Given the description of an element on the screen output the (x, y) to click on. 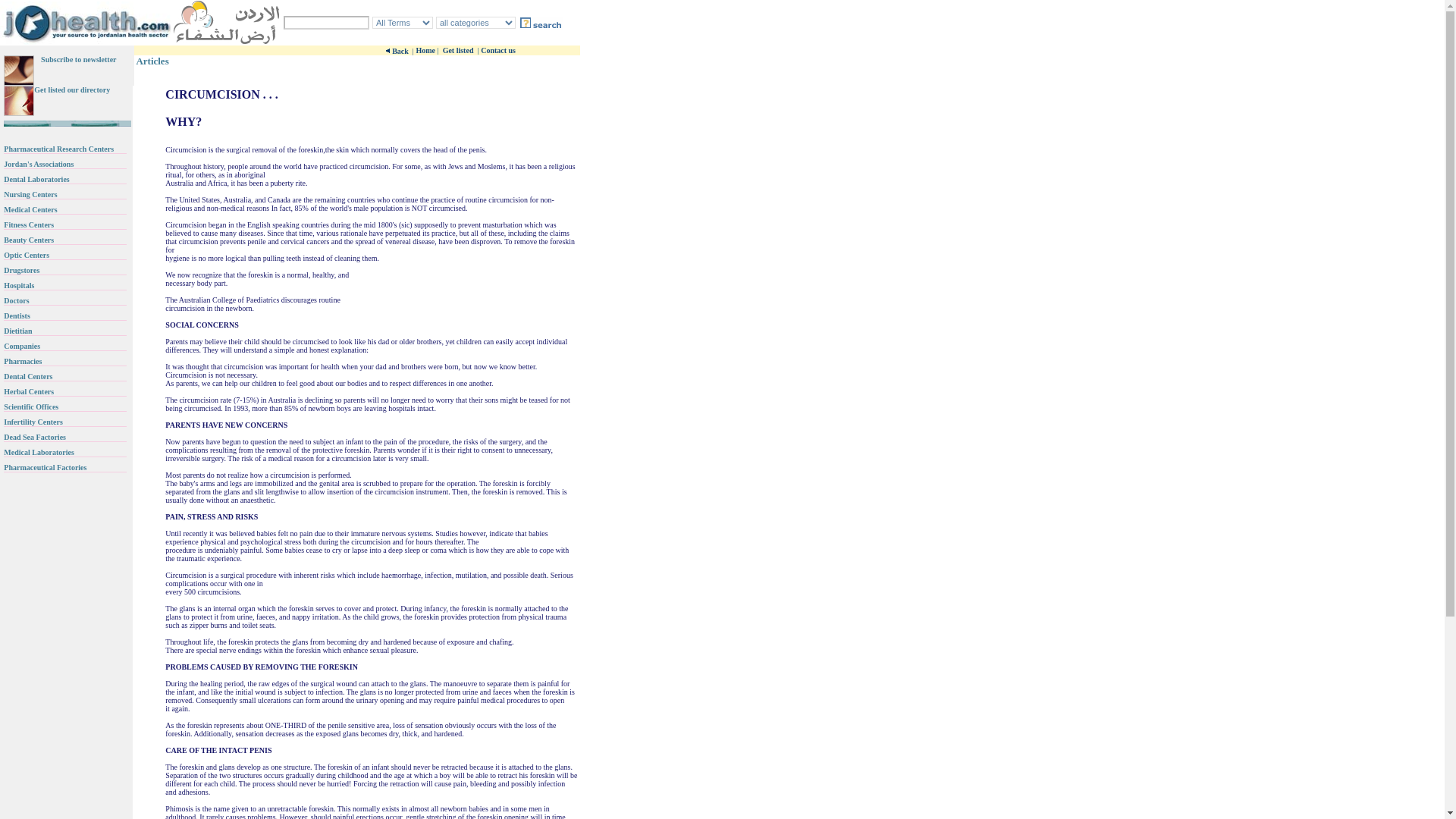
Scientific Offices (31, 404)
Herbal Centers (28, 390)
Dental Laboratories (36, 177)
Subscribe to newsletter (78, 57)
Companies (22, 344)
Drugstores (21, 268)
Pharmaceutical Research Centers (58, 146)
Medical Laboratories (39, 450)
Contact us (497, 49)
Infertility Centers (33, 420)
Pharmacies (23, 359)
Get listed our directory (71, 88)
Jordan's Associations (39, 162)
Back (400, 50)
Optic Centers (26, 253)
